Given the description of an element on the screen output the (x, y) to click on. 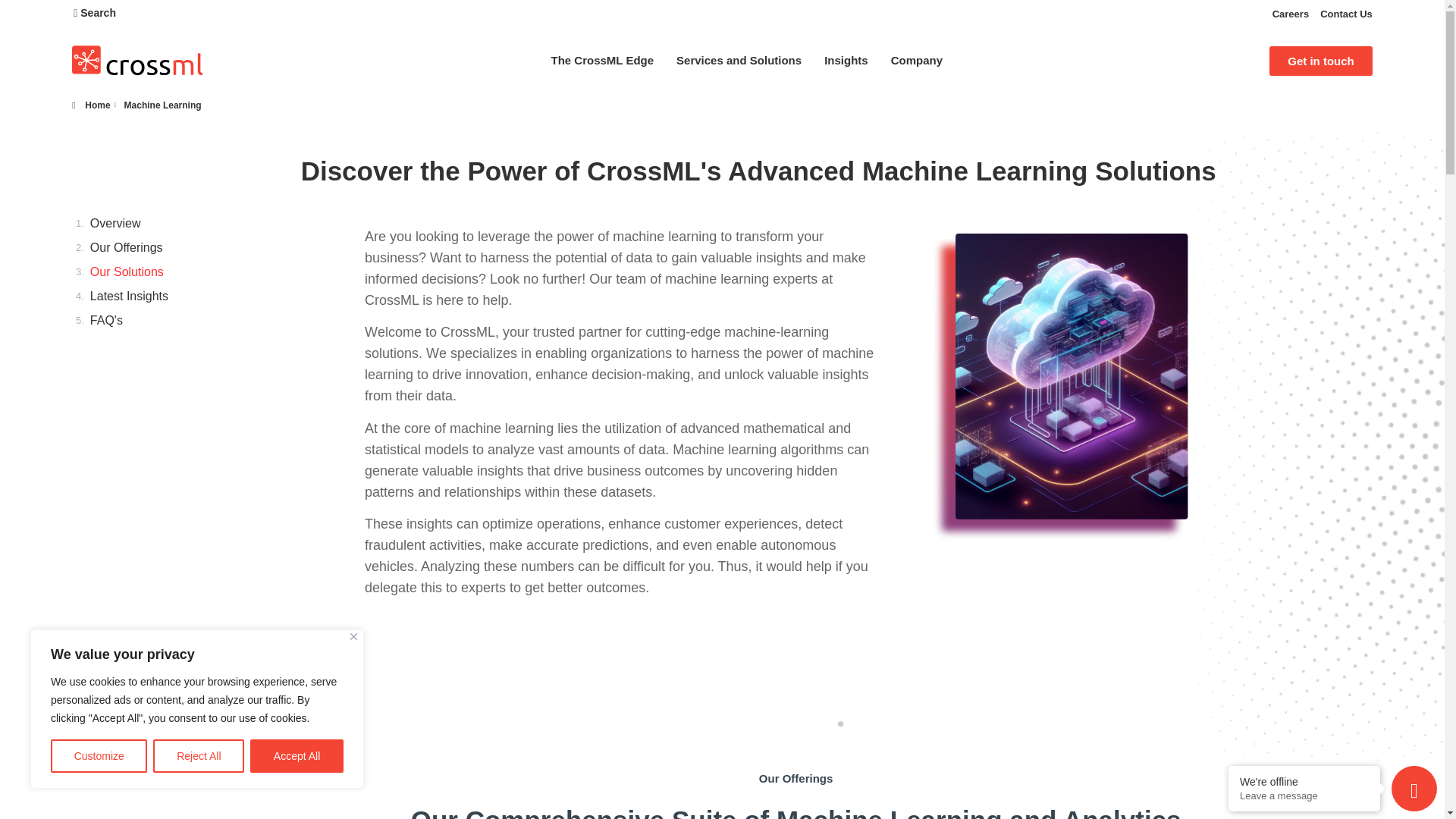
The CrossML Edge (601, 60)
Customize (98, 756)
Careers (1284, 14)
Contact Us (1340, 14)
Reject All (198, 756)
Accept All (296, 756)
Services and Solutions (738, 60)
